Given the description of an element on the screen output the (x, y) to click on. 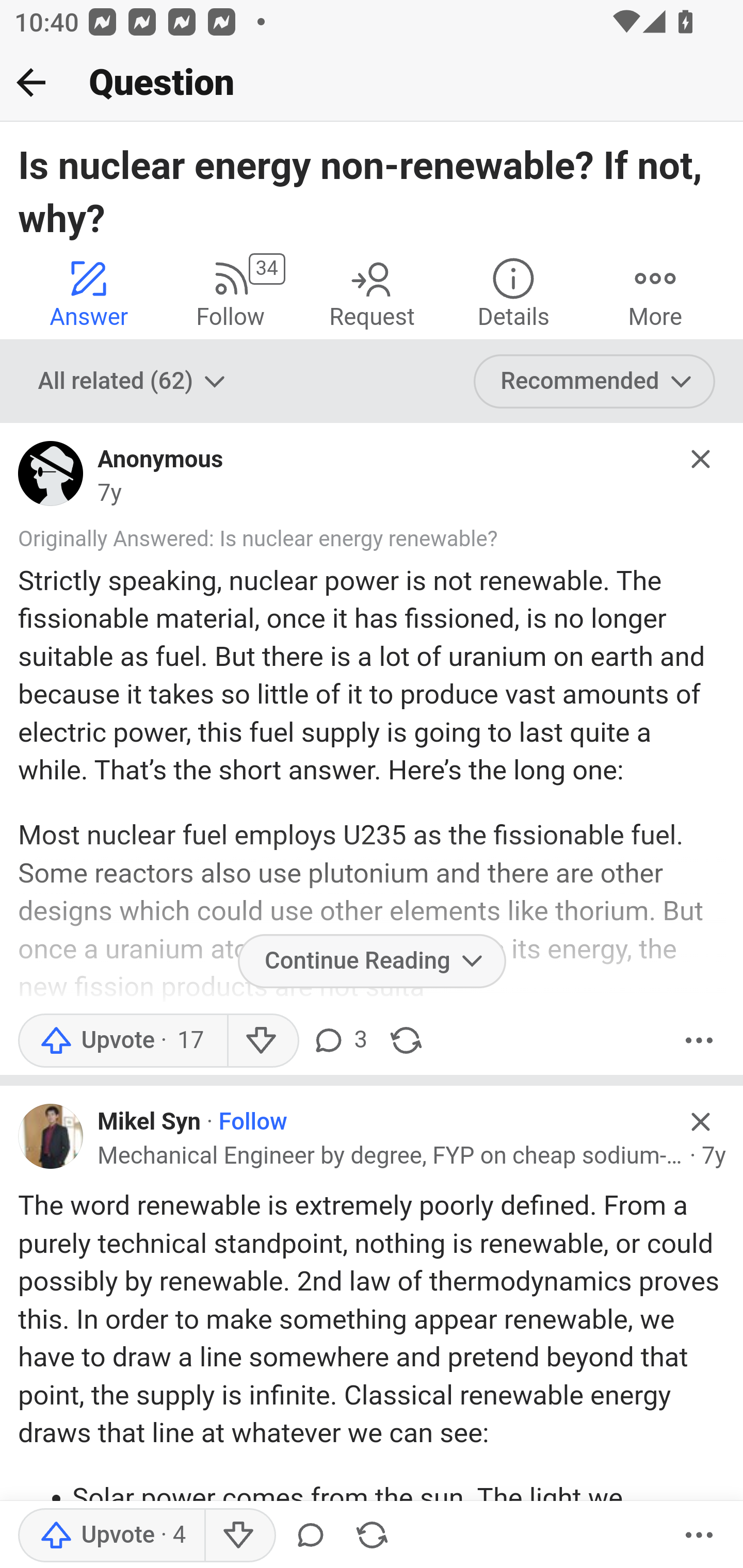
Back Question (371, 82)
Back (30, 82)
Answer (88, 292)
34 Follow (230, 292)
Request (371, 292)
Details (513, 292)
More (655, 292)
All related (62) (133, 381)
Recommended (594, 381)
Hide (700, 459)
7y 7 y (109, 493)
Is nuclear energy renewable? (358, 539)
Continue Reading (371, 960)
Upvote (122, 1039)
Downvote (262, 1039)
3 comments (338, 1039)
Share (405, 1039)
More (699, 1039)
Hide (700, 1121)
Profile photo for Mikel Syn (50, 1135)
Mikel Syn (149, 1122)
Follow (252, 1122)
7y 7 y (713, 1155)
Upvote (111, 1535)
Downvote (238, 1535)
Comment (310, 1535)
Share (372, 1535)
More (699, 1535)
